Given the description of an element on the screen output the (x, y) to click on. 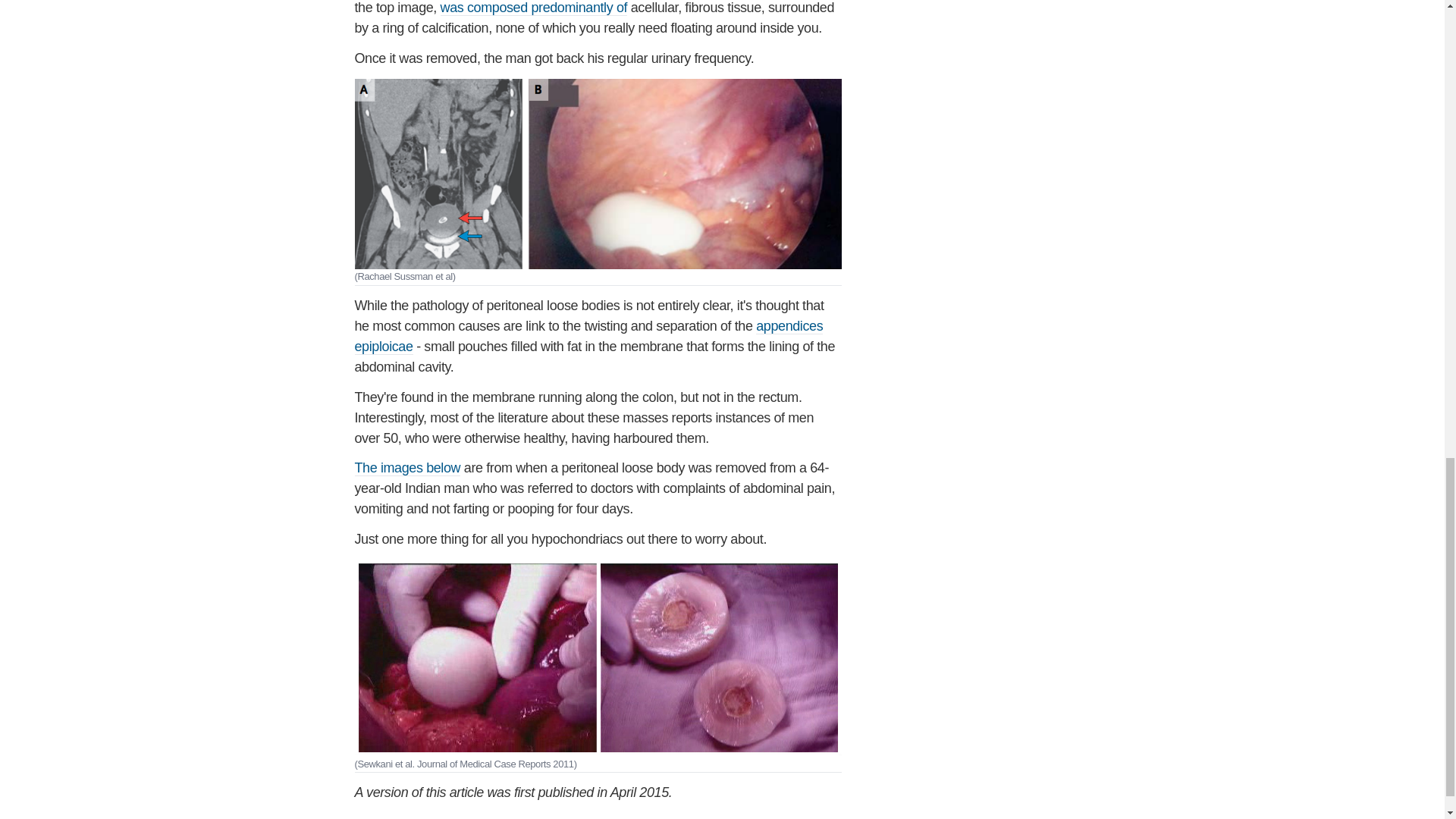
was composed predominantly of (534, 7)
appendices epiploicae (589, 336)
The images below (408, 467)
